Given the description of an element on the screen output the (x, y) to click on. 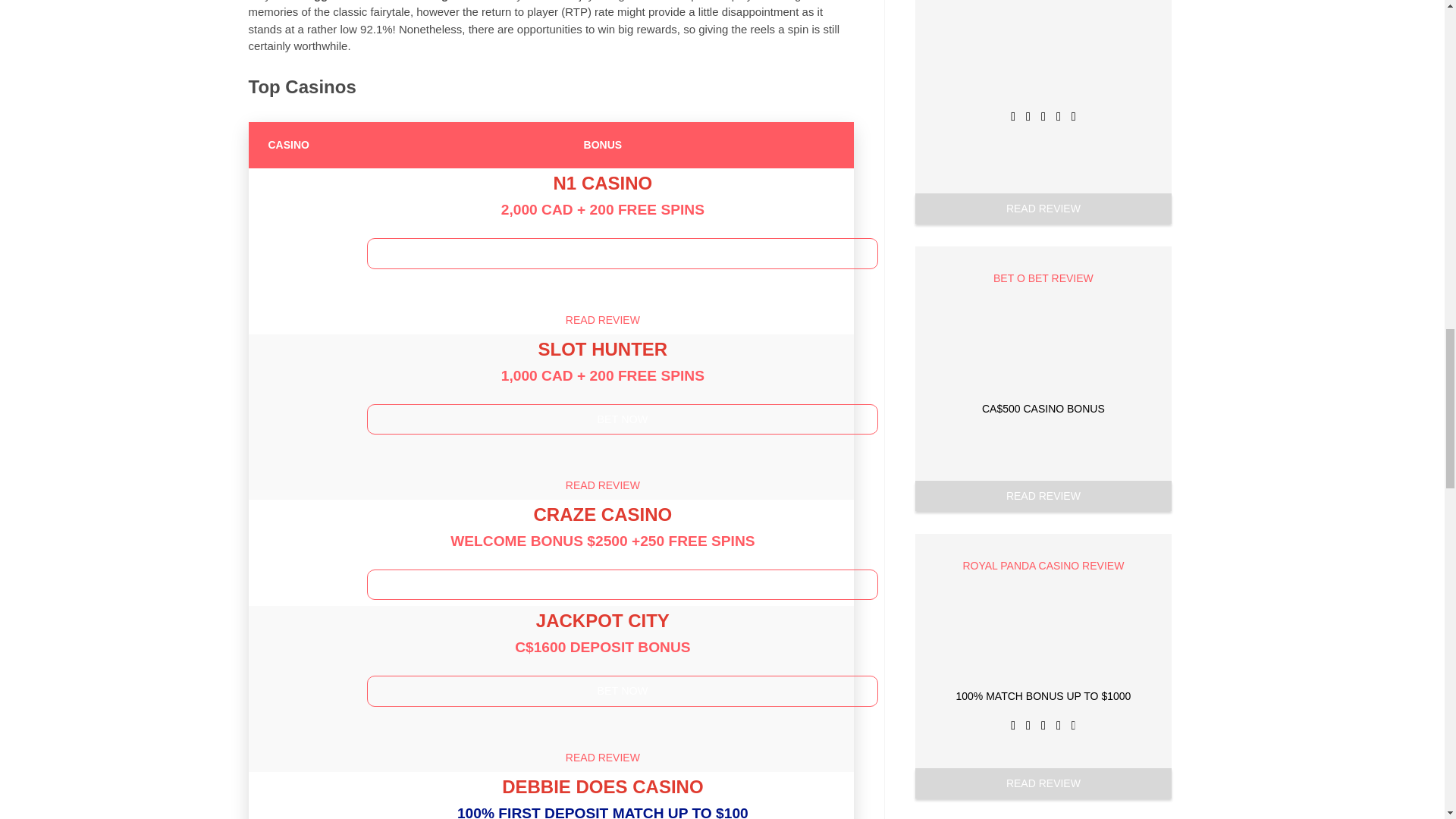
READ REVIEW (603, 485)
BET NOW (621, 584)
BET NOW (621, 253)
BET NOW (621, 419)
BET NOW (621, 690)
READ REVIEW (603, 757)
READ REVIEW (603, 319)
